Given the description of an element on the screen output the (x, y) to click on. 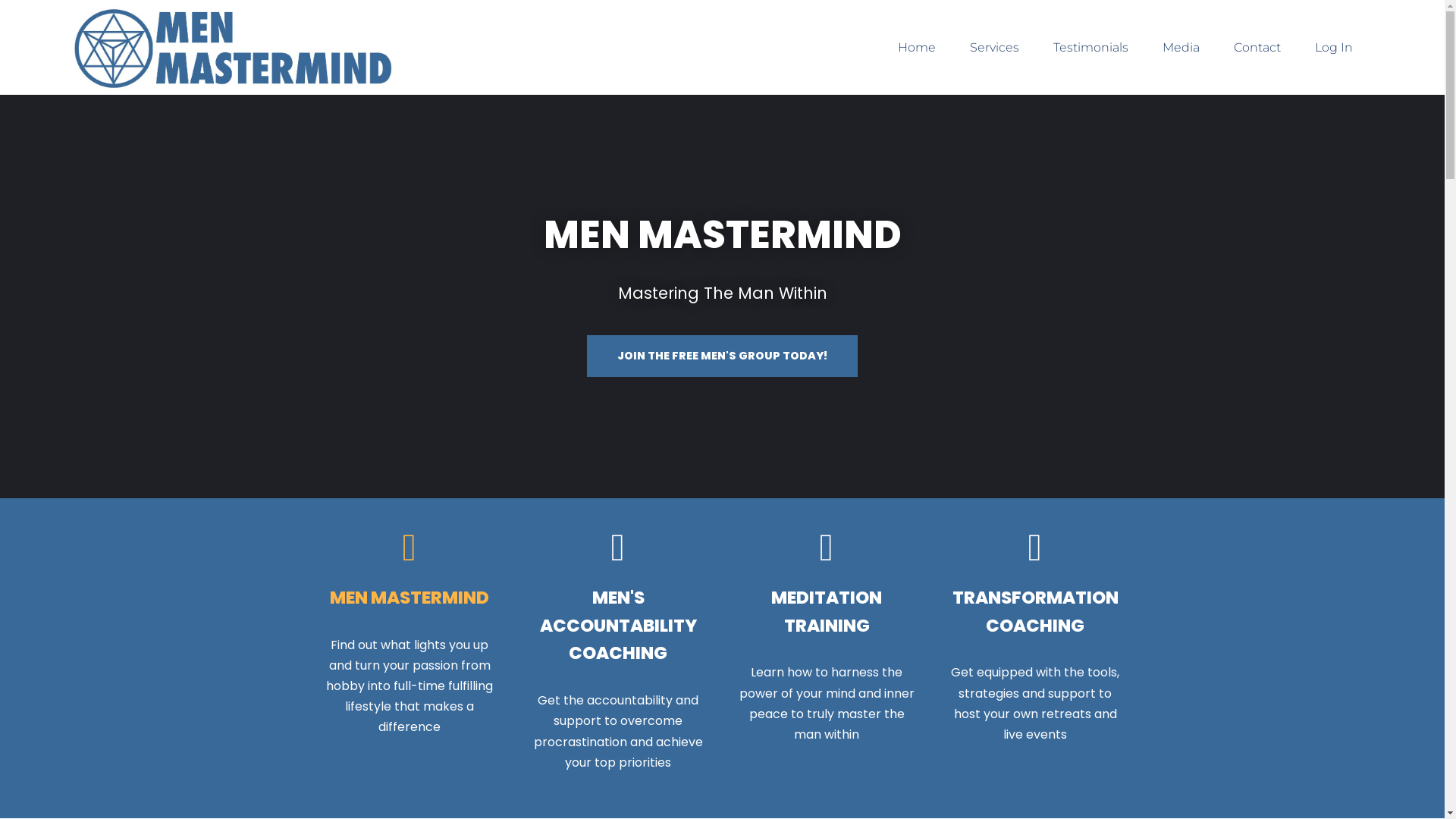
Services Element type: text (994, 47)
Home Element type: text (916, 47)
JOIN THE FREE MEN'S GROUP TODAY! Element type: text (721, 355)
Media Element type: text (1180, 47)
Log In Element type: text (1333, 47)
Contact Element type: text (1256, 47)
Skip to content Element type: text (11, 31)
Testimonials Element type: text (1090, 47)
